Given the description of an element on the screen output the (x, y) to click on. 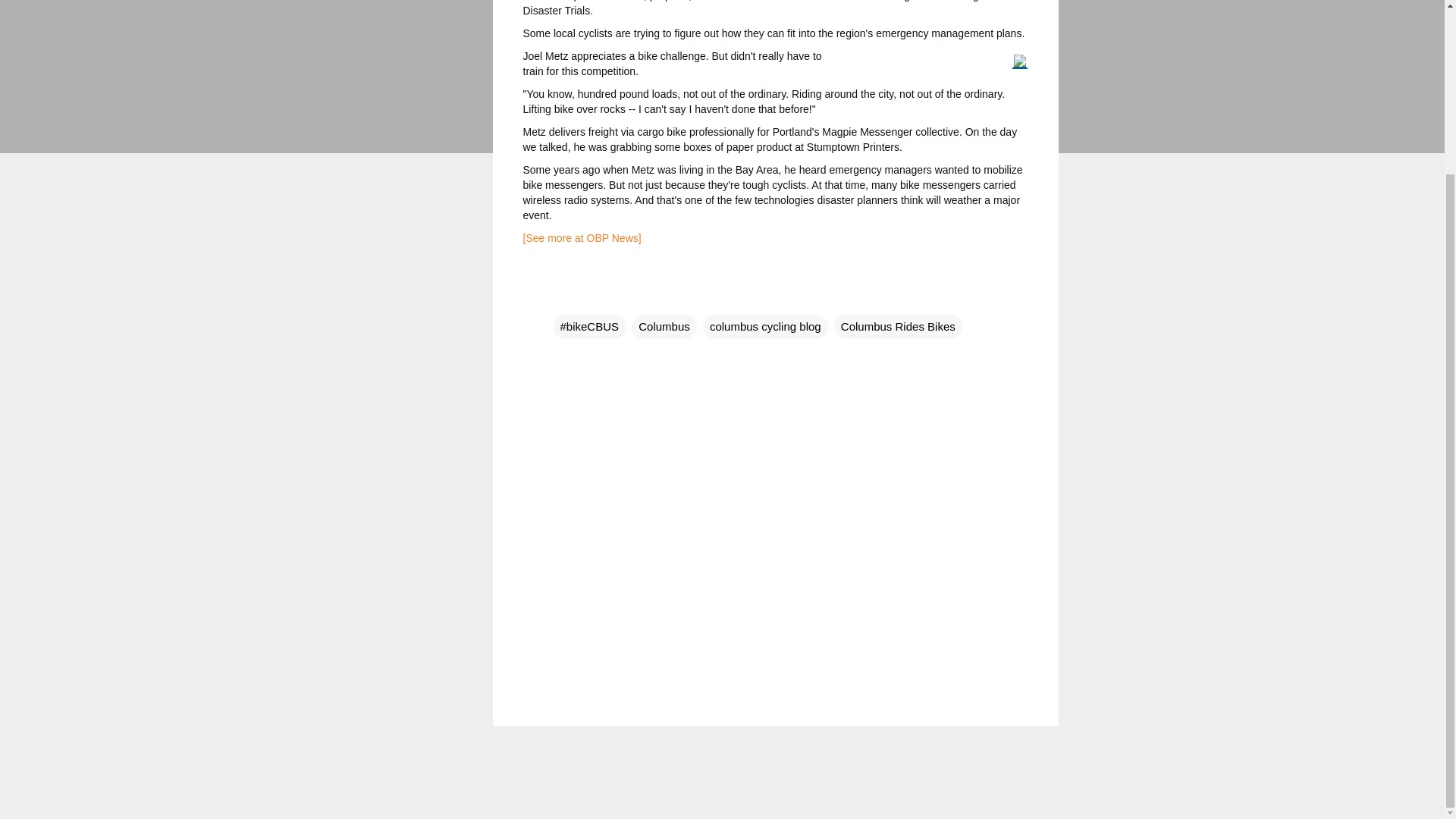
Email Post (562, 295)
Columbus (664, 325)
Columbus Rides Bikes (898, 325)
columbus cycling blog (765, 325)
